Given the description of an element on the screen output the (x, y) to click on. 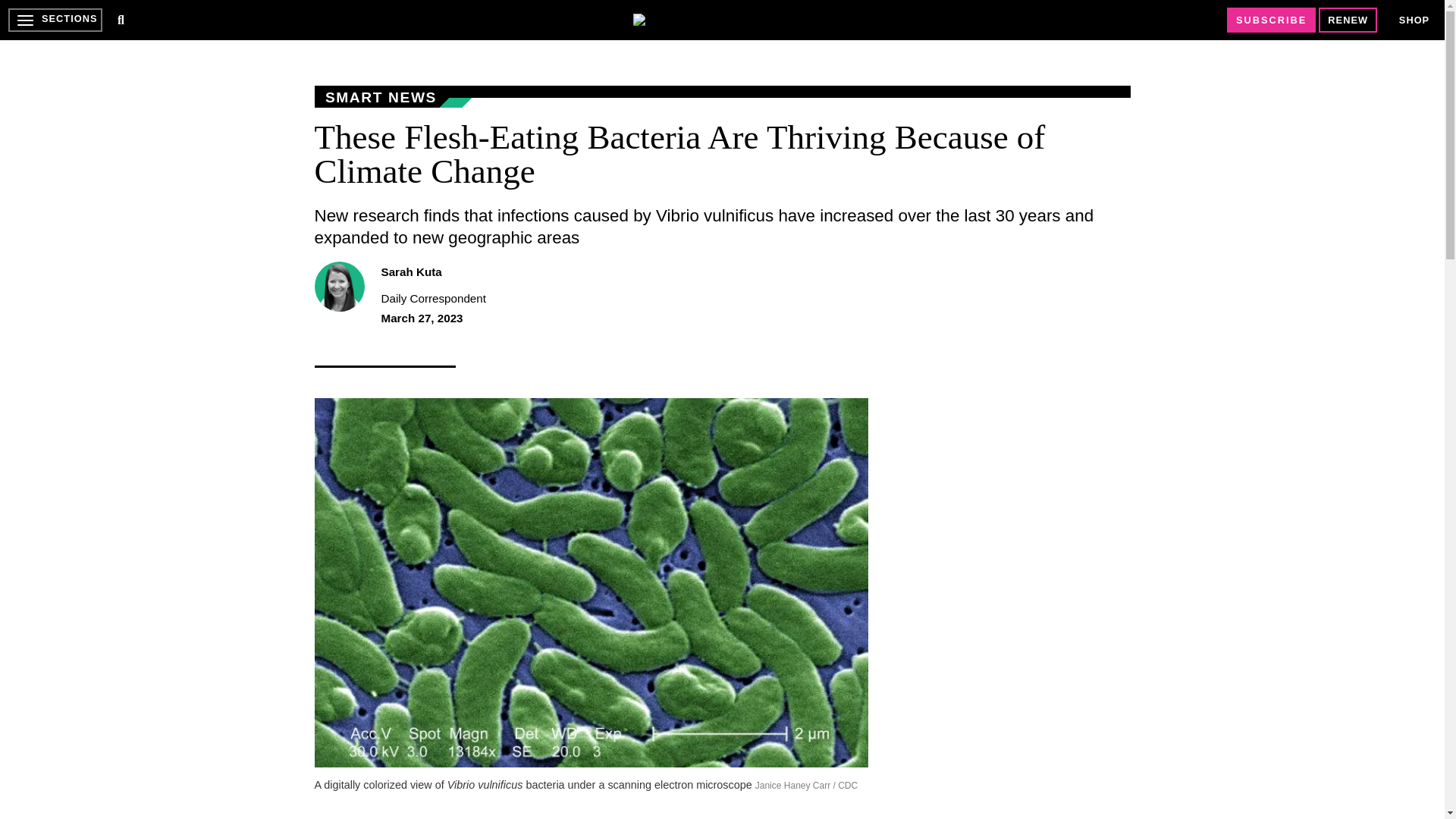
SECTIONS (55, 19)
RENEW (1348, 19)
SHOP (1413, 19)
SUBSCRIBE (1271, 19)
SUBSCRIBE (1271, 19)
RENEW (1347, 19)
SHOP (1414, 19)
